Given the description of an element on the screen output the (x, y) to click on. 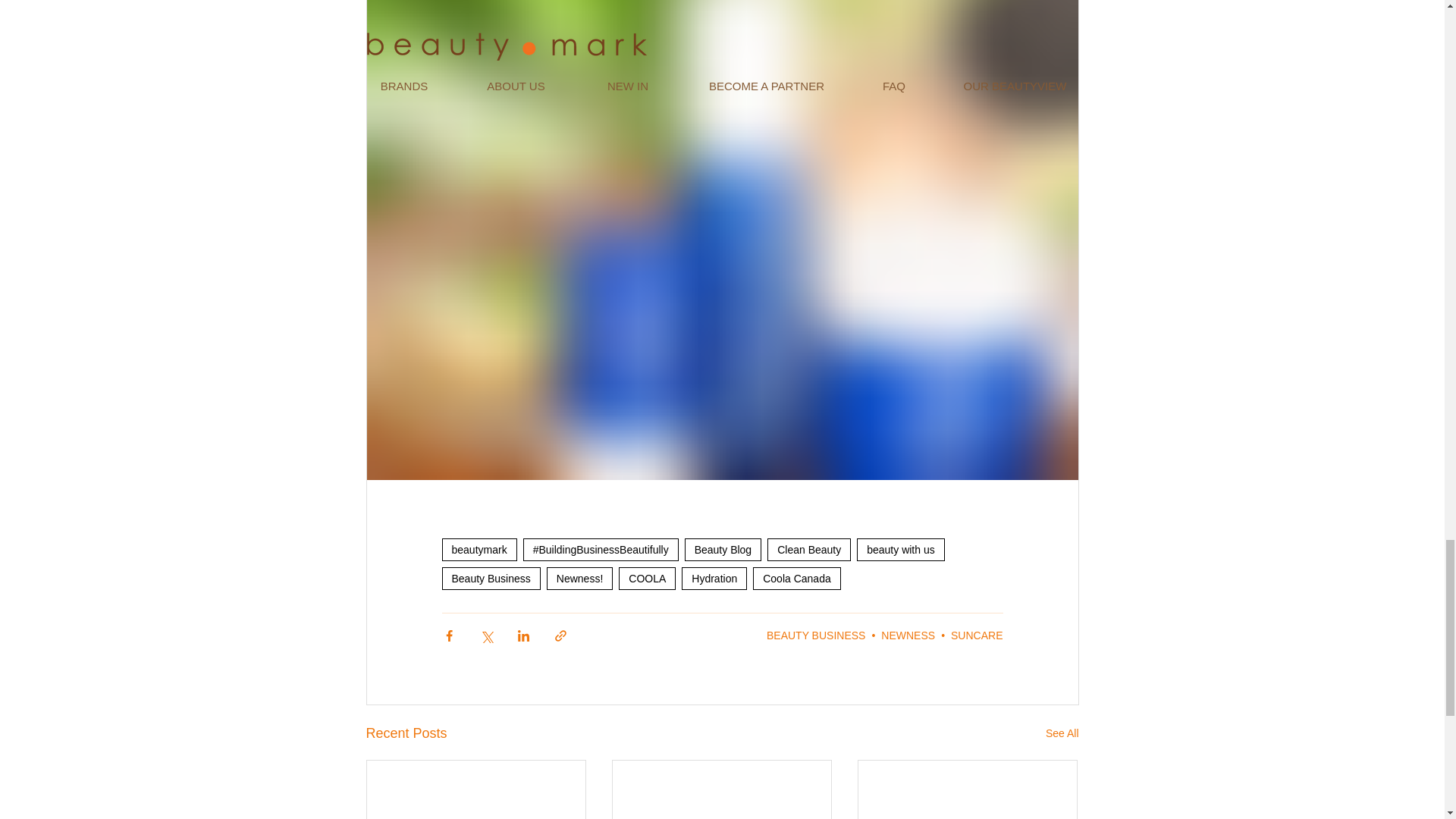
beauty with us (900, 549)
beautymark (478, 549)
Newness! (579, 578)
Beauty Blog (722, 549)
See All (1061, 733)
Hydration (713, 578)
Clean Beauty (808, 549)
Beauty Business (490, 578)
BEAUTY BUSINESS (815, 635)
SUNCARE (976, 635)
